Given the description of an element on the screen output the (x, y) to click on. 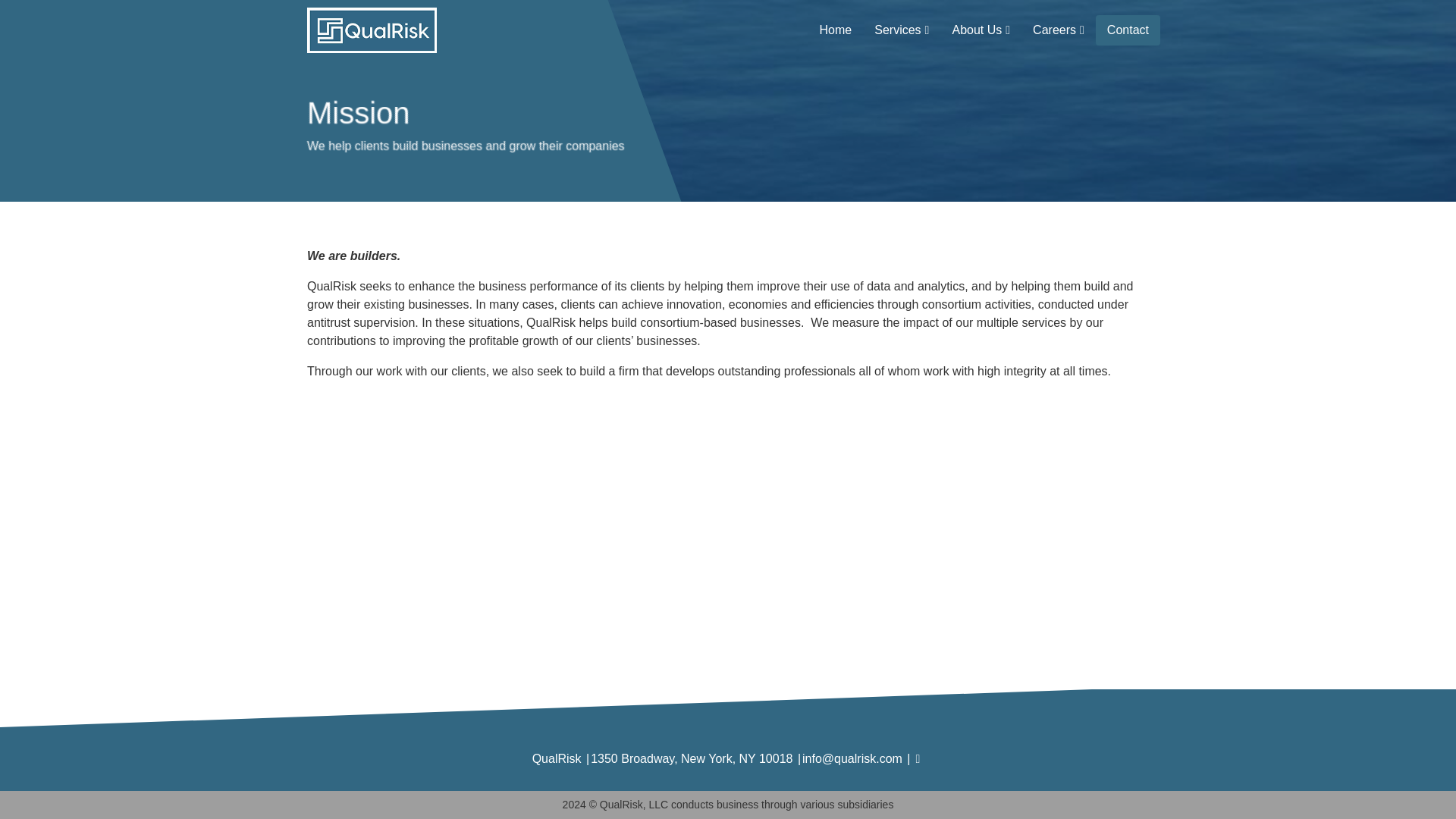
Careers (1059, 30)
Home (835, 30)
return to home page (365, 30)
Services (901, 30)
About Us (981, 30)
Contact (1128, 30)
